Given the description of an element on the screen output the (x, y) to click on. 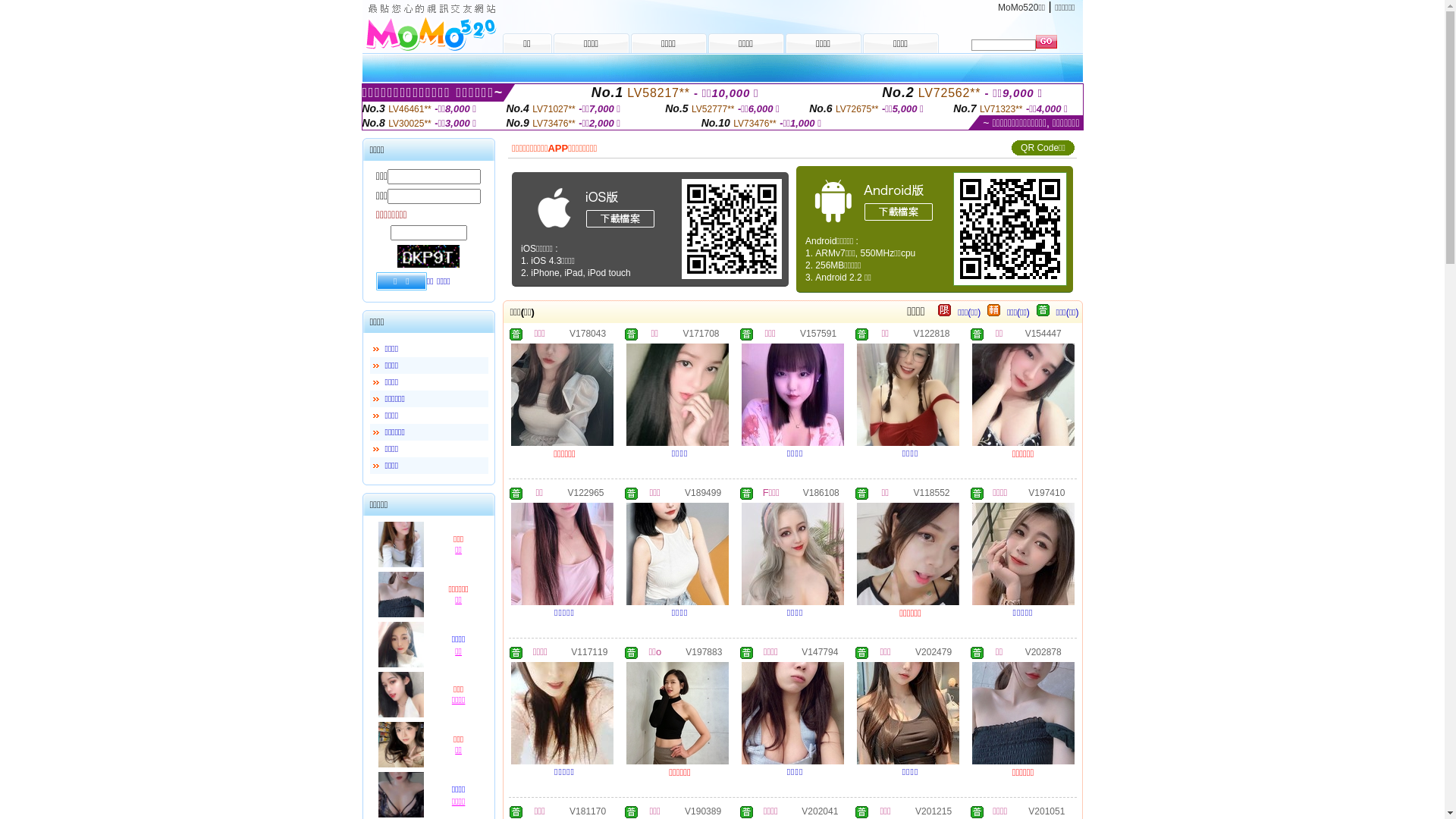
V186108 Element type: text (821, 491)
V201051 Element type: text (1046, 810)
V154447 Element type: text (1043, 332)
V118552 Element type: text (931, 491)
V157591 Element type: text (818, 332)
V201215 Element type: text (933, 810)
V122965 Element type: text (585, 491)
V197883 Element type: text (703, 651)
V202878 Element type: text (1043, 651)
V178043 Element type: text (587, 332)
V190389 Element type: text (702, 810)
V202041 Element type: text (819, 810)
V171708 Element type: text (700, 332)
V181170 Element type: text (587, 810)
V197410 Element type: text (1046, 491)
V117119 Element type: text (589, 651)
V122818 Element type: text (931, 332)
V189499 Element type: text (702, 491)
V202479 Element type: text (933, 651)
V147794 Element type: text (819, 651)
